Given the description of an element on the screen output the (x, y) to click on. 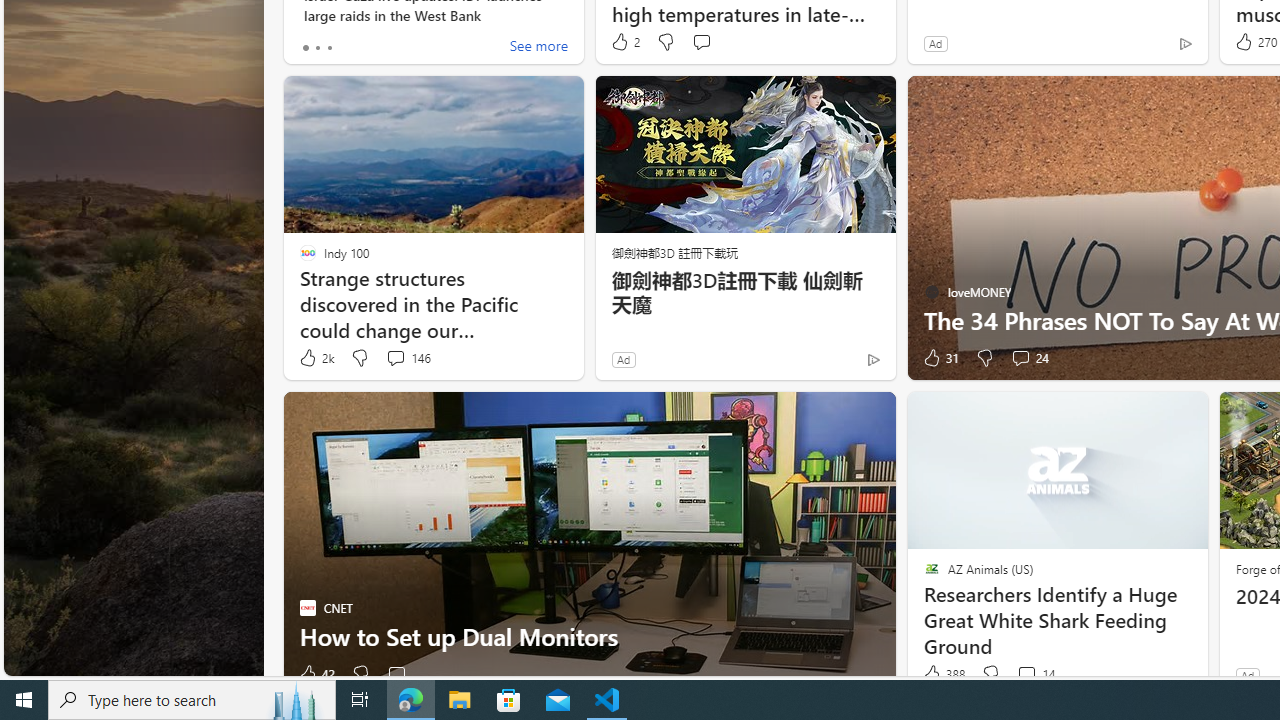
See more (538, 47)
View comments 146 Comment (408, 358)
Ad (1247, 675)
View comments 24 Comment (1029, 358)
31 Like (939, 358)
View comments 146 Comment (395, 357)
